Given the description of an element on the screen output the (x, y) to click on. 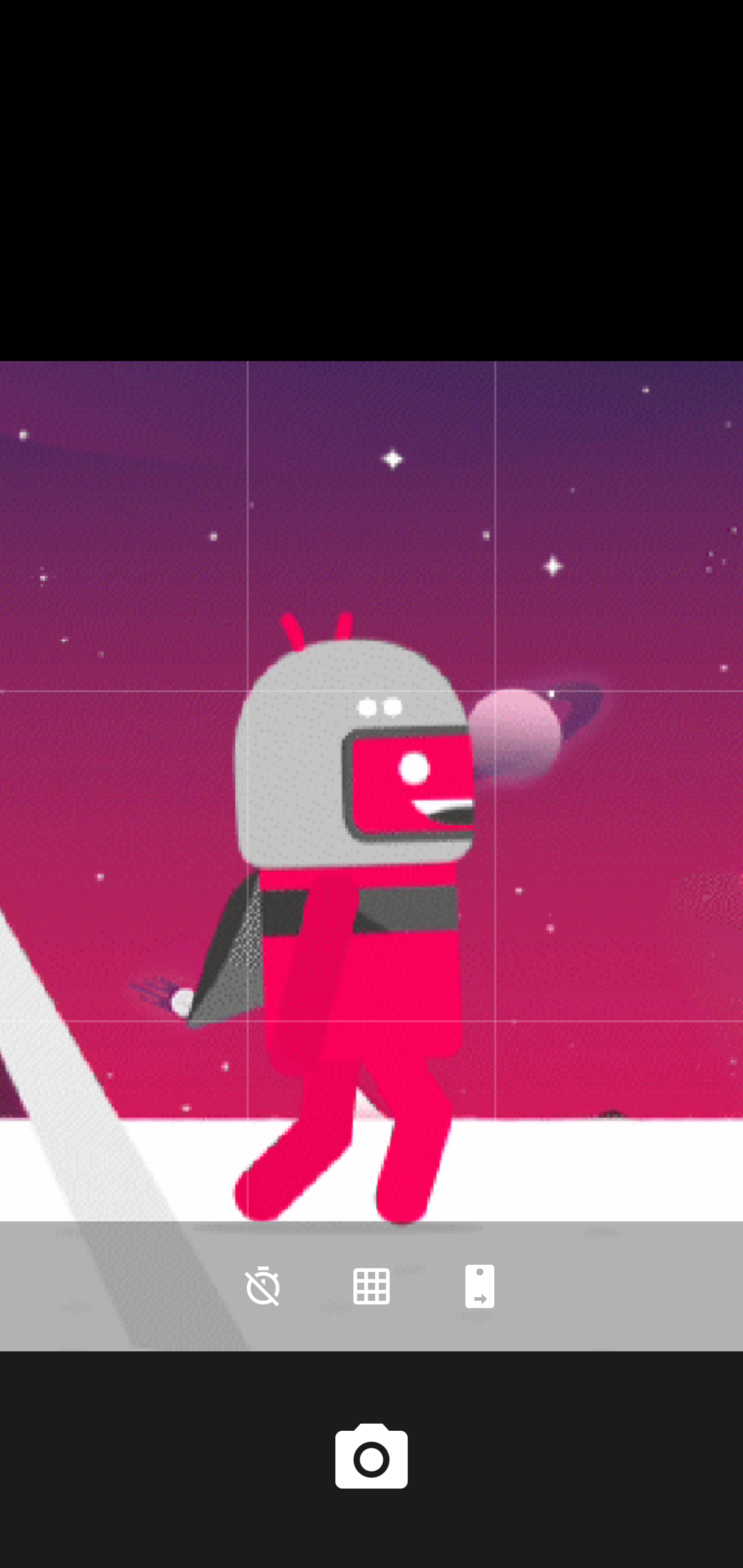
Countdown timer is off (262, 1286)
Grid lines on (371, 1286)
Back camera (479, 1286)
Shutter (371, 1459)
